Given the description of an element on the screen output the (x, y) to click on. 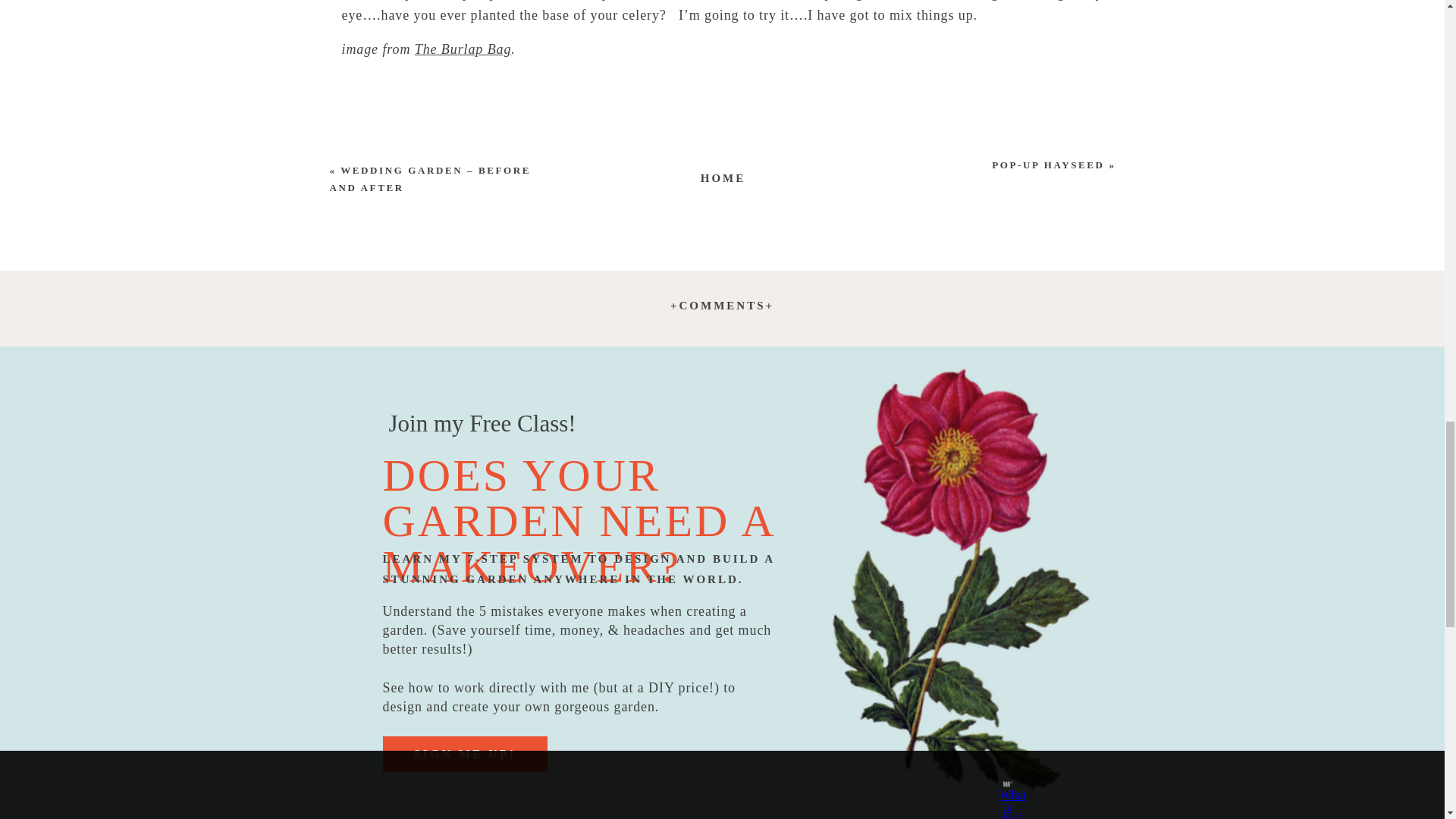
SIGN ME UP! (464, 757)
pinterest, (630, 0)
The Burlap Bag (463, 48)
POP-UP HAYSEED (1047, 164)
HOME (723, 175)
